Given the description of an element on the screen output the (x, y) to click on. 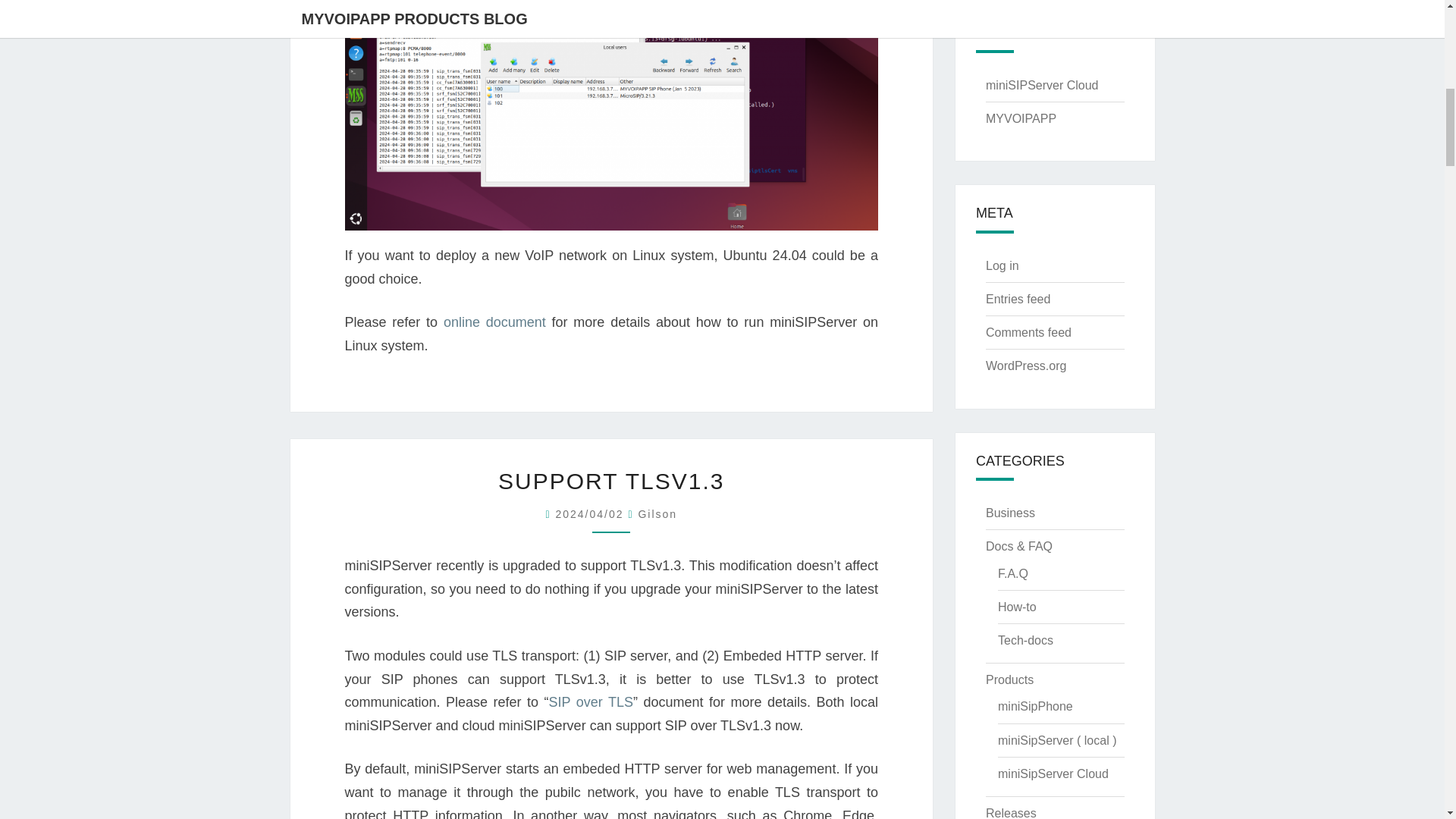
online document (492, 322)
SUPPORT TLSV1.3 (610, 480)
SIP over TLS (590, 702)
View all posts by Gilson (657, 513)
Gilson (657, 513)
1:52 PM (590, 513)
